Given the description of an element on the screen output the (x, y) to click on. 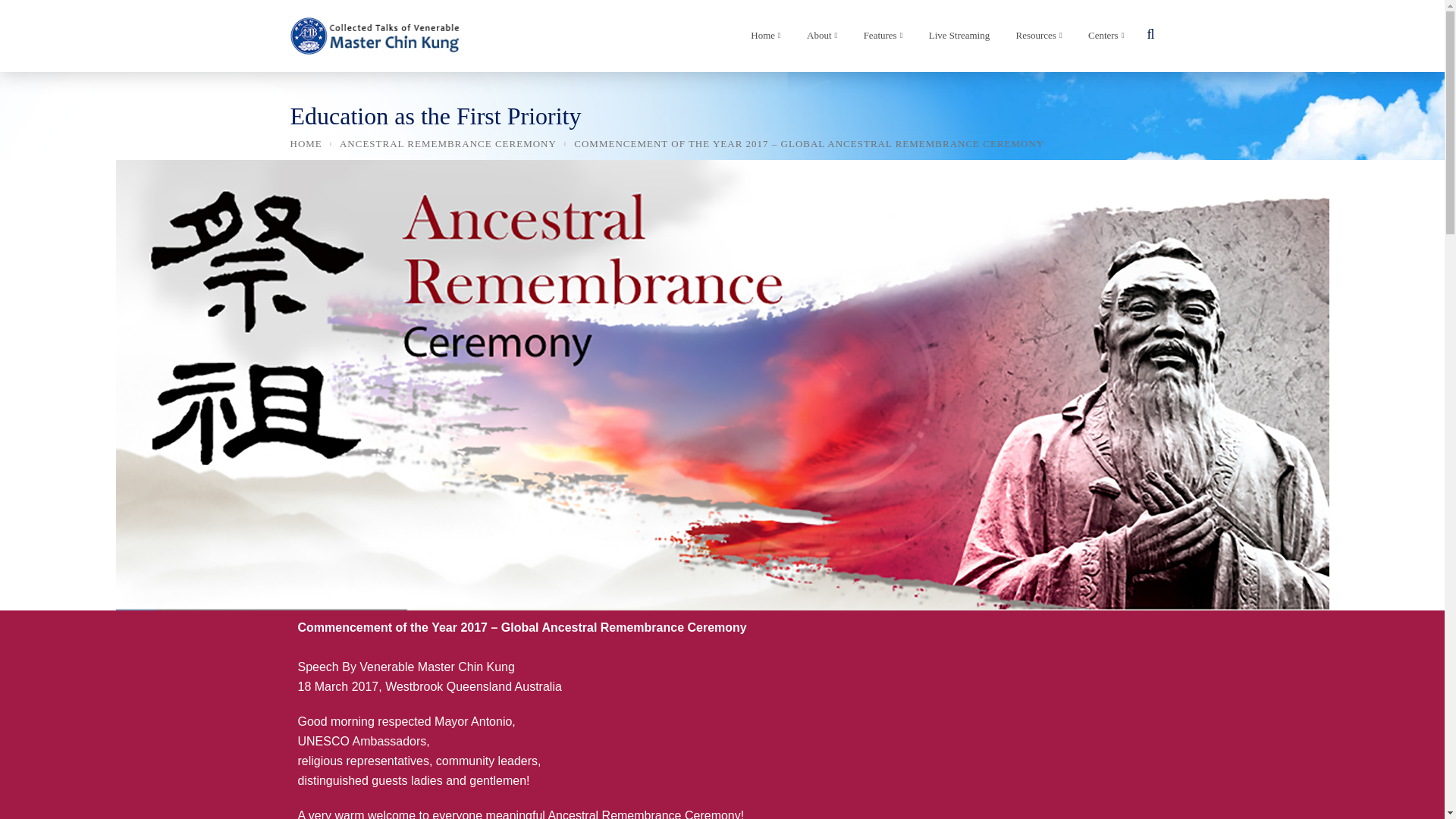
Features (879, 38)
Centers (1102, 38)
HOME (305, 143)
Live Streaming (955, 38)
ANCESTRAL REMEMBRANCE CEREMONY (447, 143)
Resources (1034, 38)
About (817, 38)
Home (761, 38)
